Given the description of an element on the screen output the (x, y) to click on. 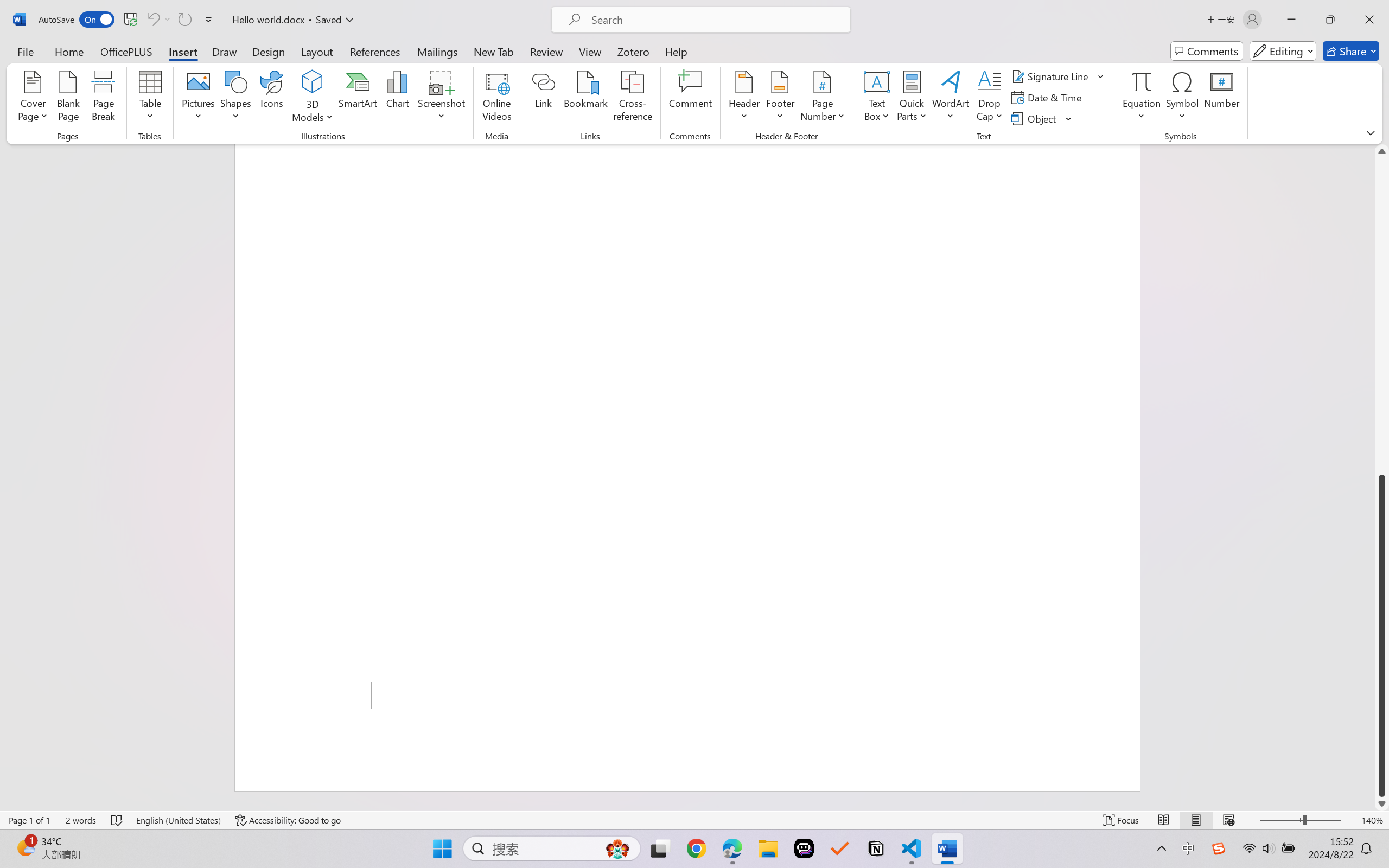
Mode (1283, 50)
Equation (1141, 97)
Equation (1141, 81)
Cover Page (33, 97)
Language English (United States) (178, 819)
Quick Access Toolbar (127, 19)
Shapes (235, 97)
Read Mode (1163, 819)
Spelling and Grammar Check No Errors (117, 819)
Signature Line (1058, 75)
Drop Cap (989, 97)
New Tab (493, 51)
WordArt (950, 97)
Microsoft search (715, 19)
